Given the description of an element on the screen output the (x, y) to click on. 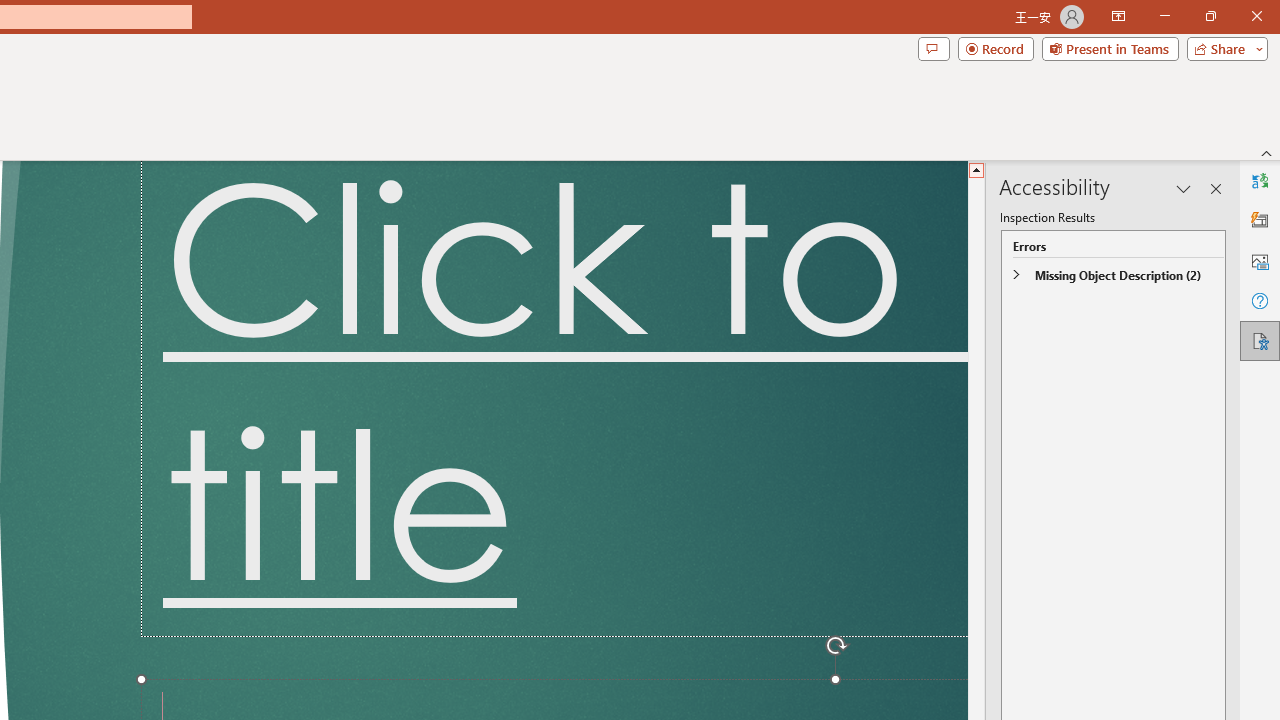
Translator (1260, 180)
Alt Text (1260, 260)
Title TextBox (553, 399)
